Given the description of an element on the screen output the (x, y) to click on. 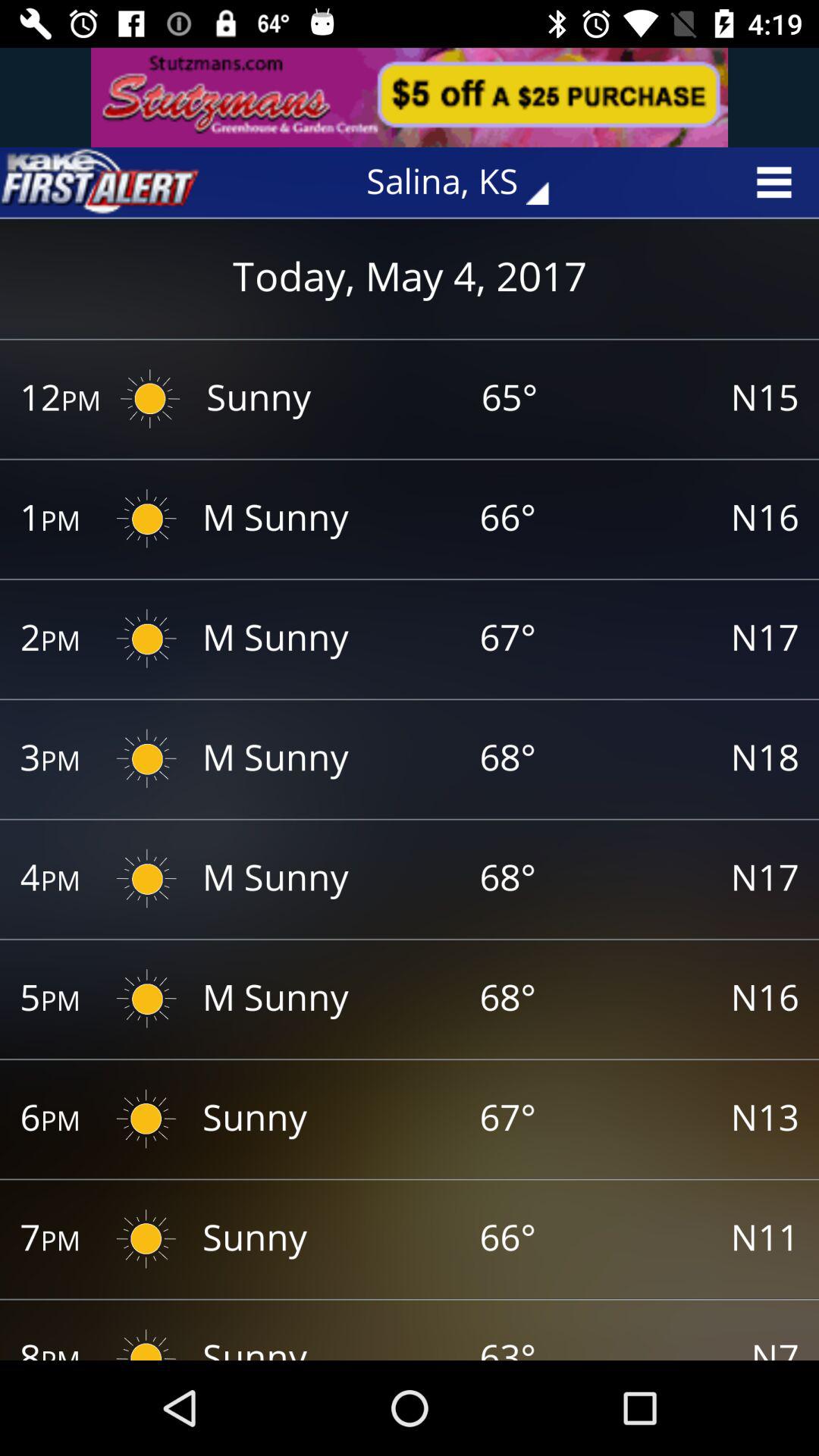
advertisement area (409, 97)
